Given the description of an element on the screen output the (x, y) to click on. 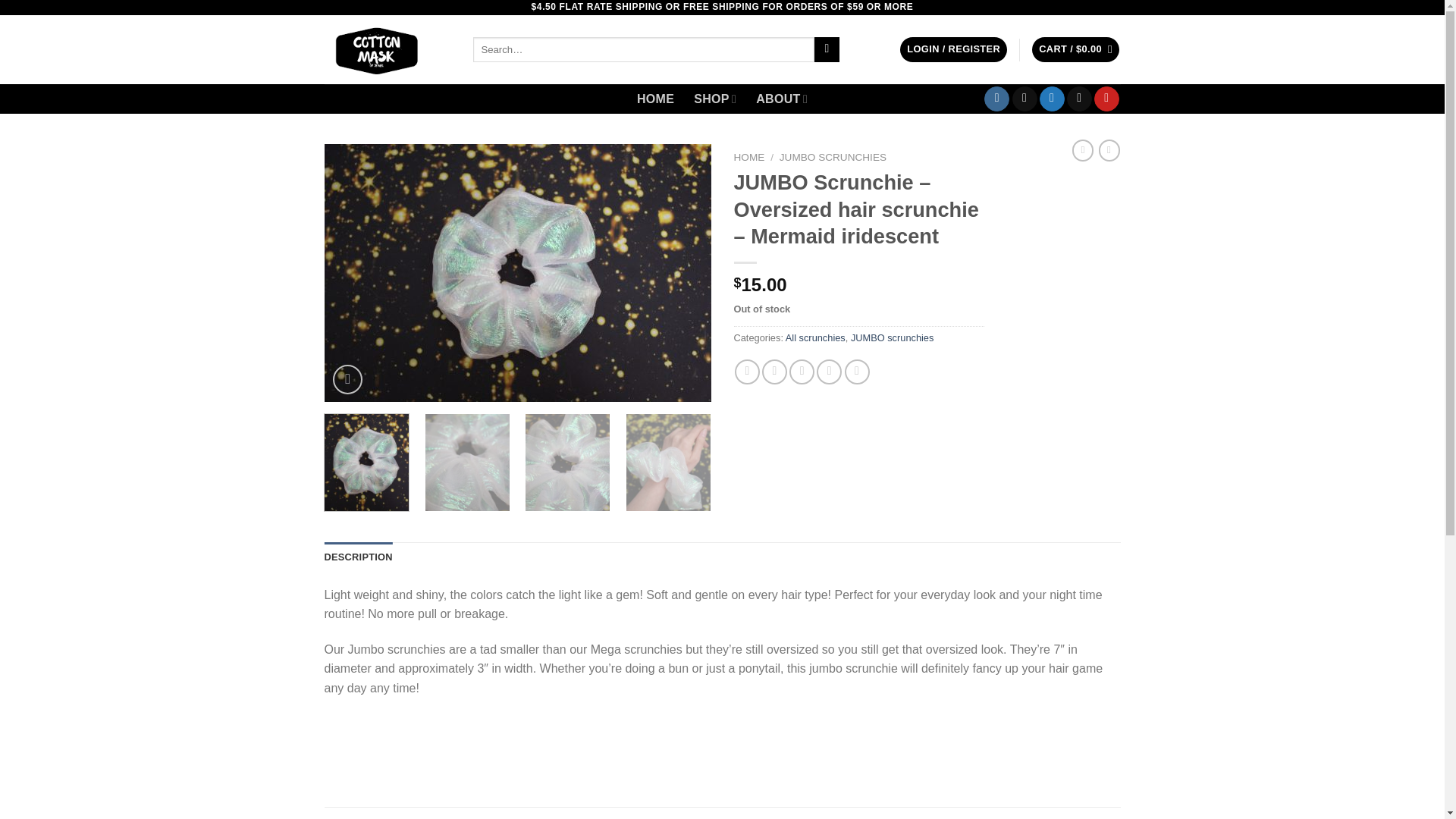
Follow on Pinterest (1106, 99)
Send us an email (1079, 99)
SHOP (715, 98)
Follow on TikTok (1023, 99)
Cart (1075, 49)
Follow on Instagram (996, 99)
HOME (655, 99)
Search (826, 49)
Follow on Twitter (1051, 99)
ABOUT (781, 98)
